Given the description of an element on the screen output the (x, y) to click on. 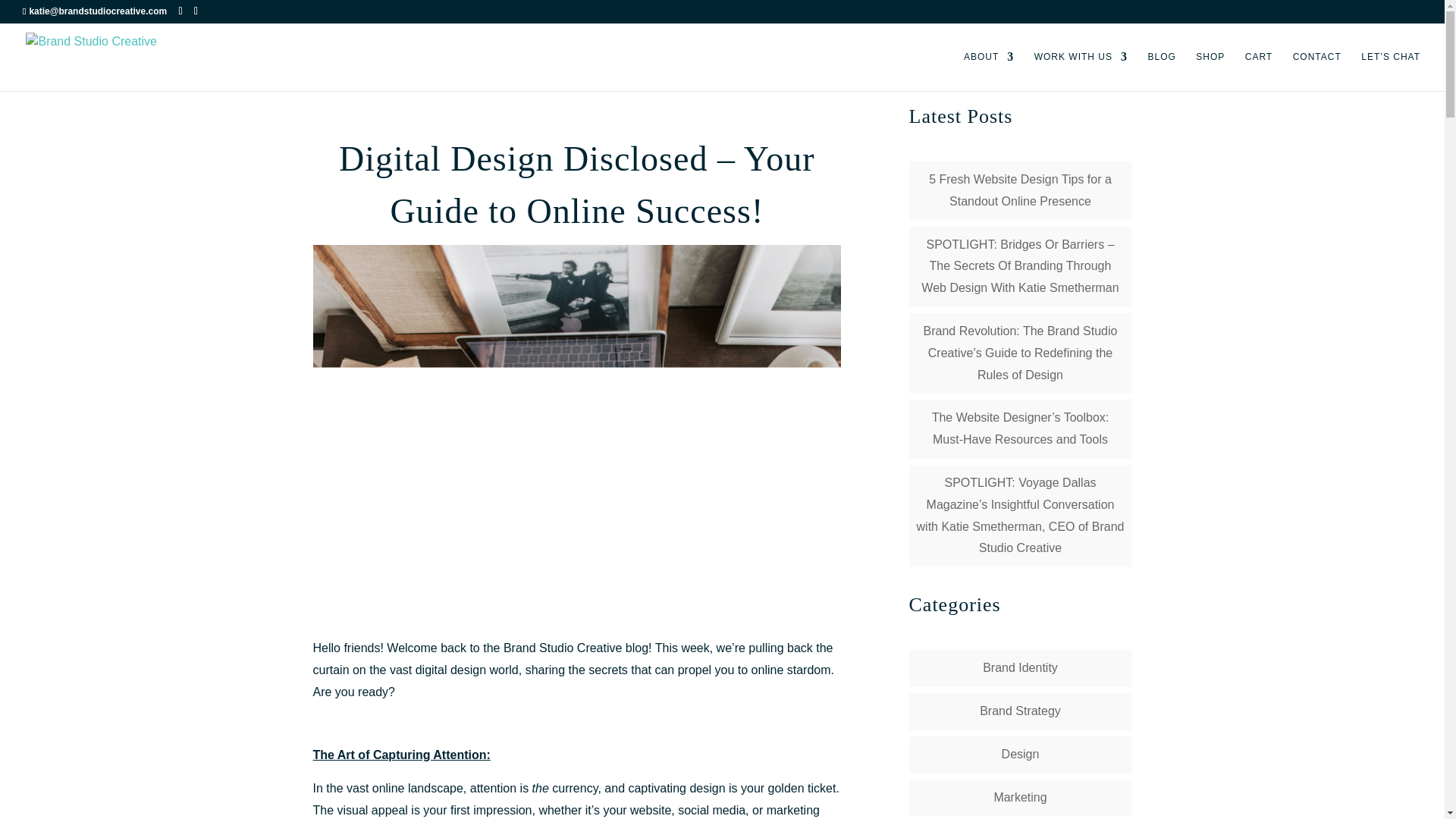
5 Fresh Website Design Tips for a Standout Online Presence (1020, 190)
Brand Identity (1020, 667)
Marketing (1019, 797)
WORK WITH US (1079, 70)
CONTACT (1316, 70)
ABOUT (988, 70)
Design (1020, 753)
Brand Strategy (1020, 710)
